Given the description of an element on the screen output the (x, y) to click on. 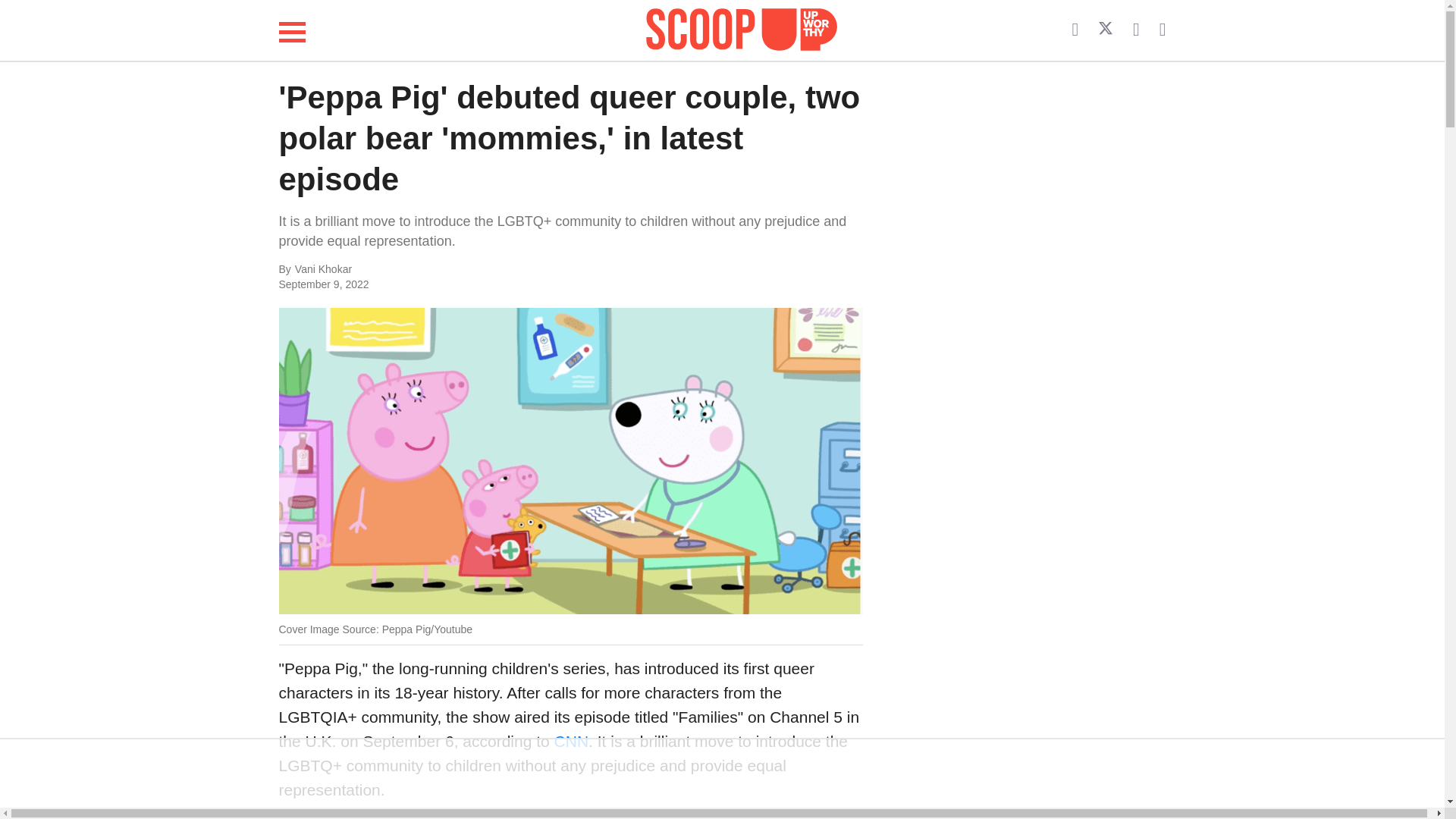
SCOOP UPWORTHY (741, 29)
CNN (571, 741)
Vani Khokar (445, 269)
SCOOP UPWORTHY (741, 27)
